Given the description of an element on the screen output the (x, y) to click on. 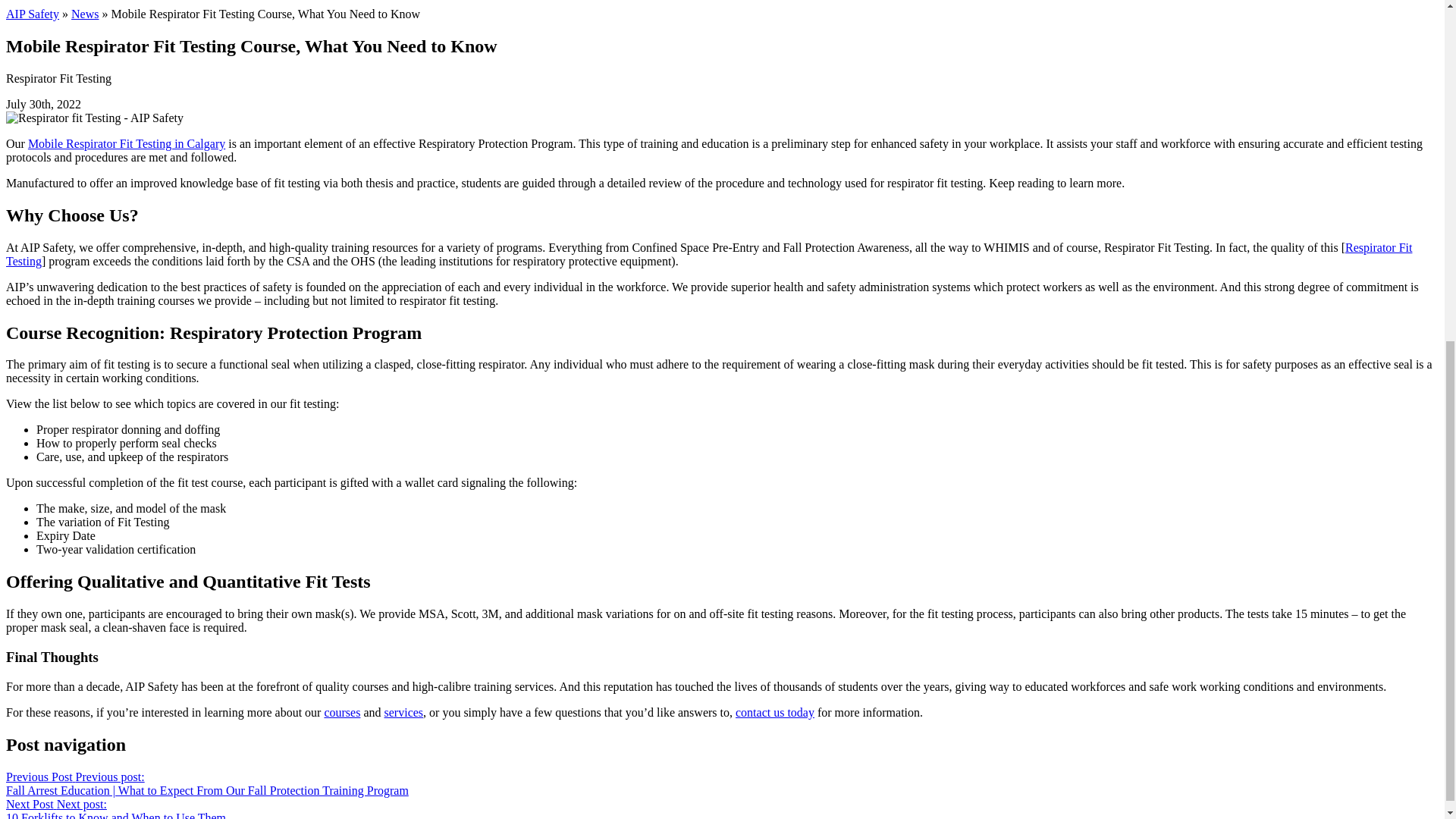
AIP Safety (32, 13)
services (403, 712)
courses (341, 712)
Mobile Respirator Fit Testing in Calgary (126, 143)
Respirator Fit Testing (708, 253)
News (85, 13)
